Given the description of an element on the screen output the (x, y) to click on. 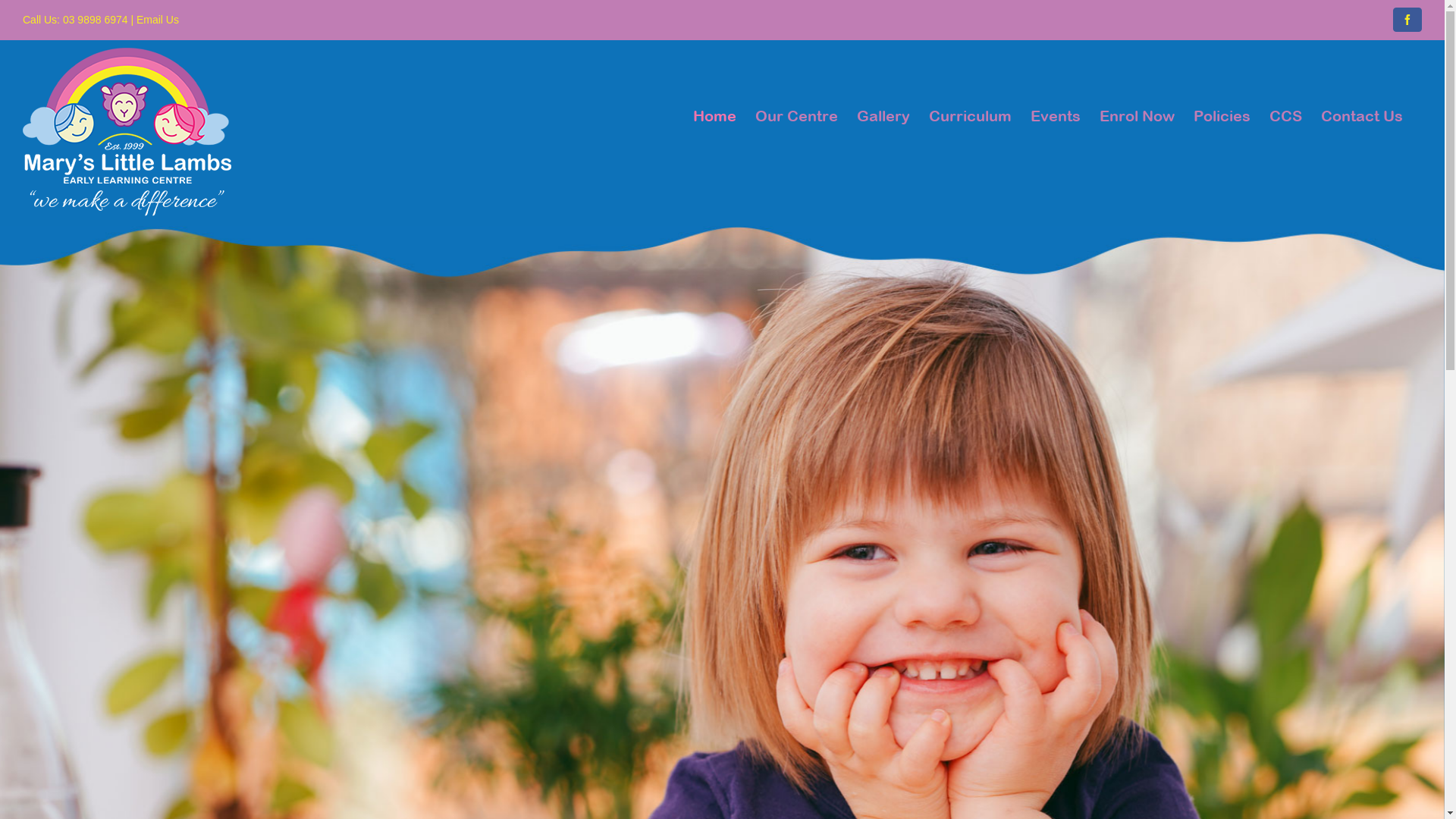
Policies Element type: text (1221, 91)
Facebook Element type: text (1407, 19)
Gallery Element type: text (883, 91)
Our Centre Element type: text (796, 91)
Email Us Element type: text (157, 19)
Events Element type: text (1055, 91)
Curriculum Element type: text (969, 91)
03 9898 6974 Element type: text (93, 19)
Enrol Now Element type: text (1136, 91)
Contact Us Element type: text (1361, 91)
CCS Element type: text (1285, 91)
Home Element type: text (714, 91)
